Given the description of an element on the screen output the (x, y) to click on. 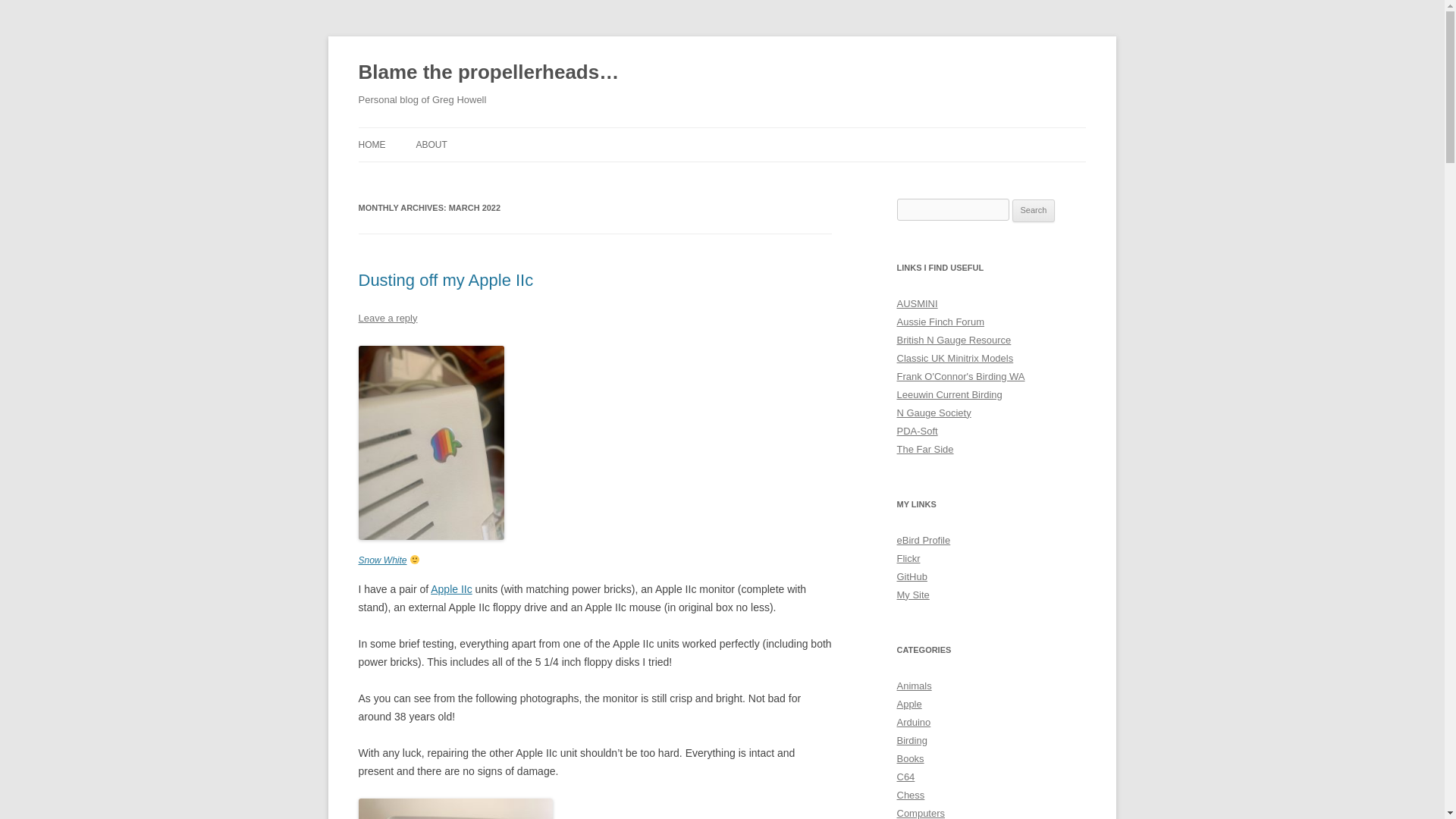
Chess (910, 794)
The Far Side (924, 449)
PDA-Soft (916, 430)
Search (1033, 210)
Apple IIc (450, 589)
AUSMINI (916, 303)
Dusting off my Apple IIc (445, 280)
Arduino (913, 722)
Leeuwin Current Birding (948, 394)
